Given the description of an element on the screen output the (x, y) to click on. 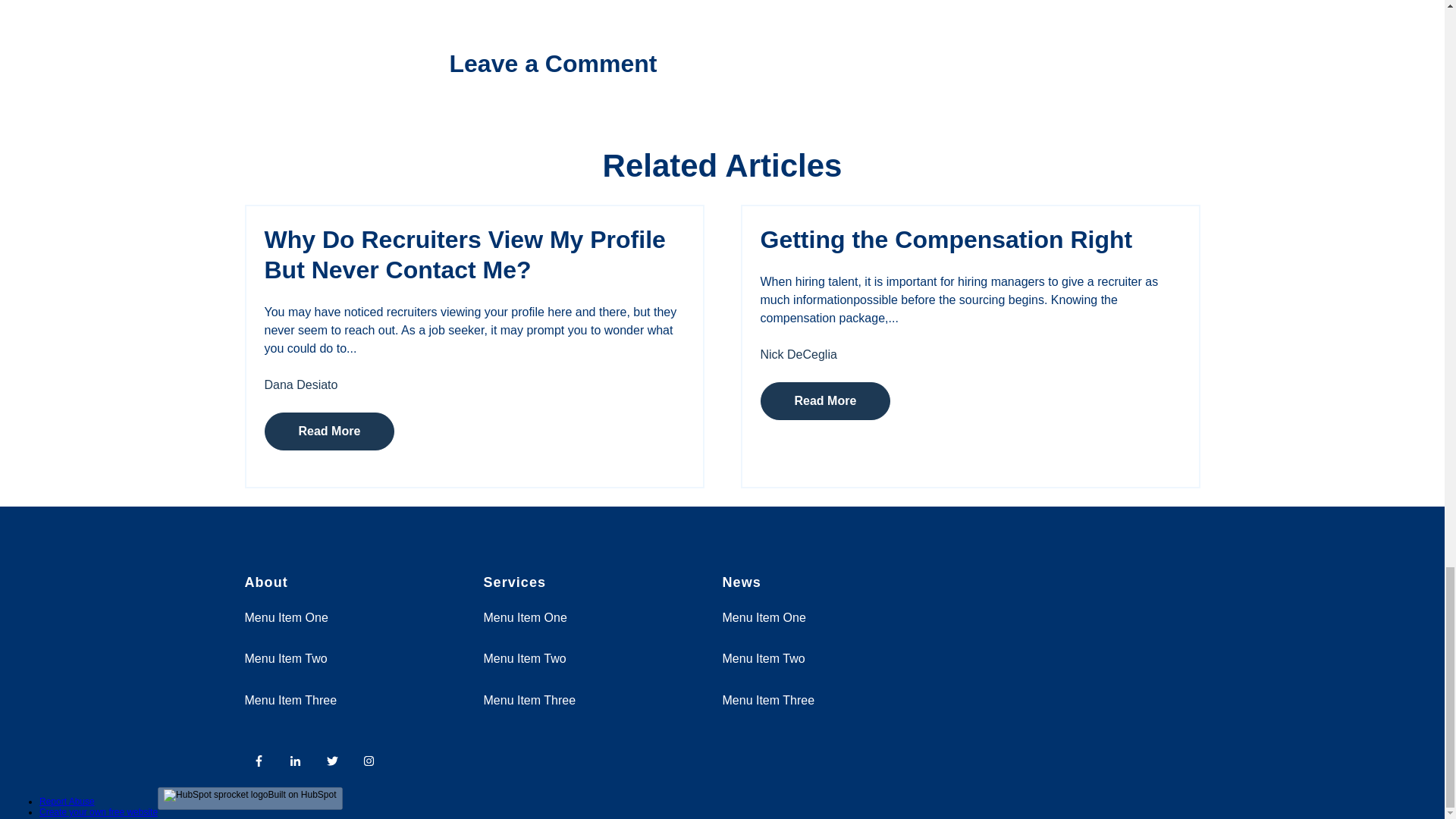
Getting the Compensation Right (946, 239)
Menu Item Two (763, 658)
Menu Item One (285, 617)
Menu Item One (525, 617)
Follow us on Instagram (373, 764)
Nick DeCeglia (797, 354)
Menu Item Two (285, 658)
Dana Desiato (300, 384)
Read More (328, 431)
Follow us on LinkedIn (295, 760)
Follow us on Twitter (331, 760)
Menu Item Three (290, 699)
Menu Item Three (767, 699)
Follow us on Facebook (258, 760)
Follow us on Instagram (368, 760)
